Given the description of an element on the screen output the (x, y) to click on. 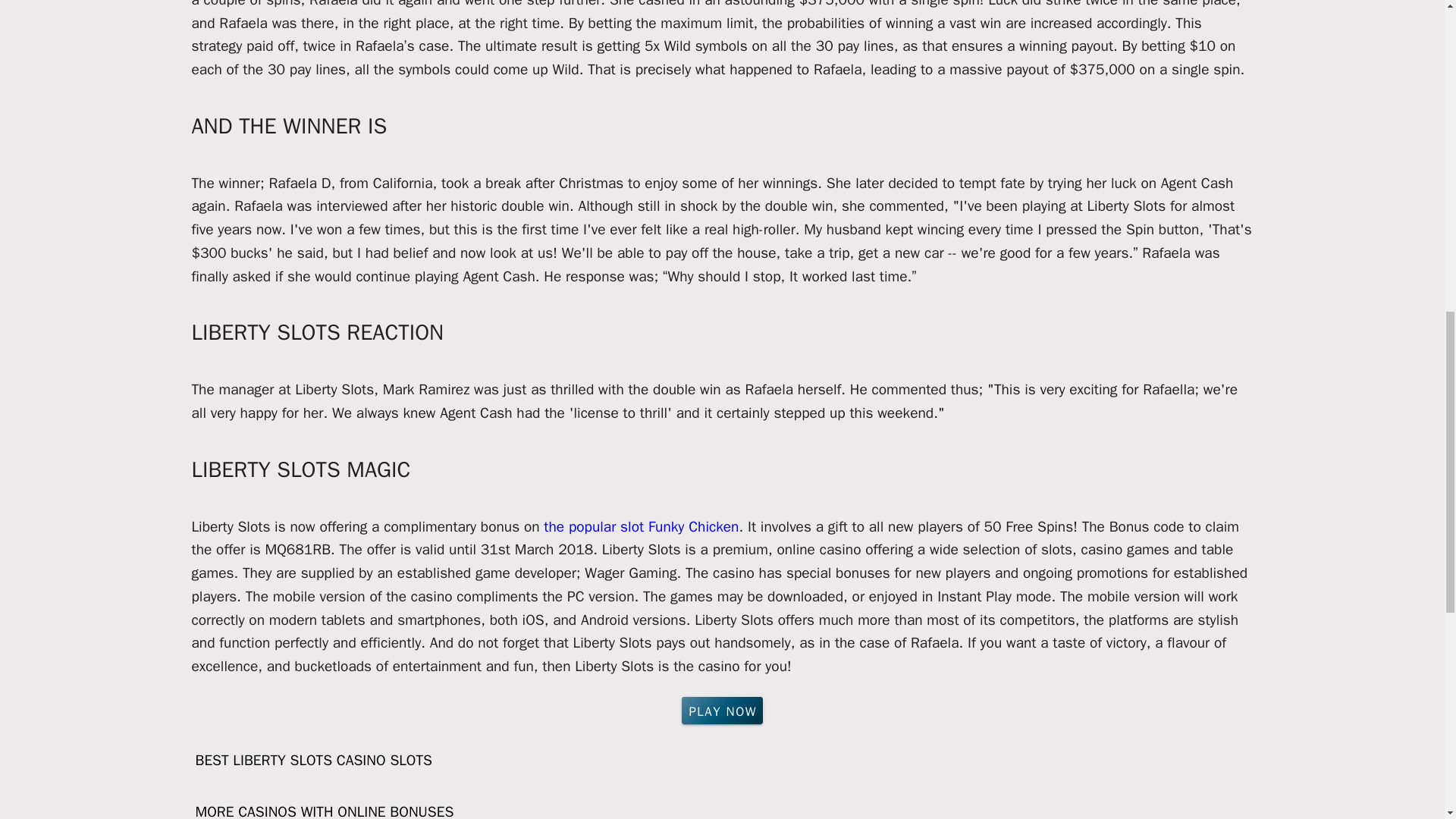
PLAY NOW (721, 709)
the popular slot Funky Chicken (640, 526)
